Given the description of an element on the screen output the (x, y) to click on. 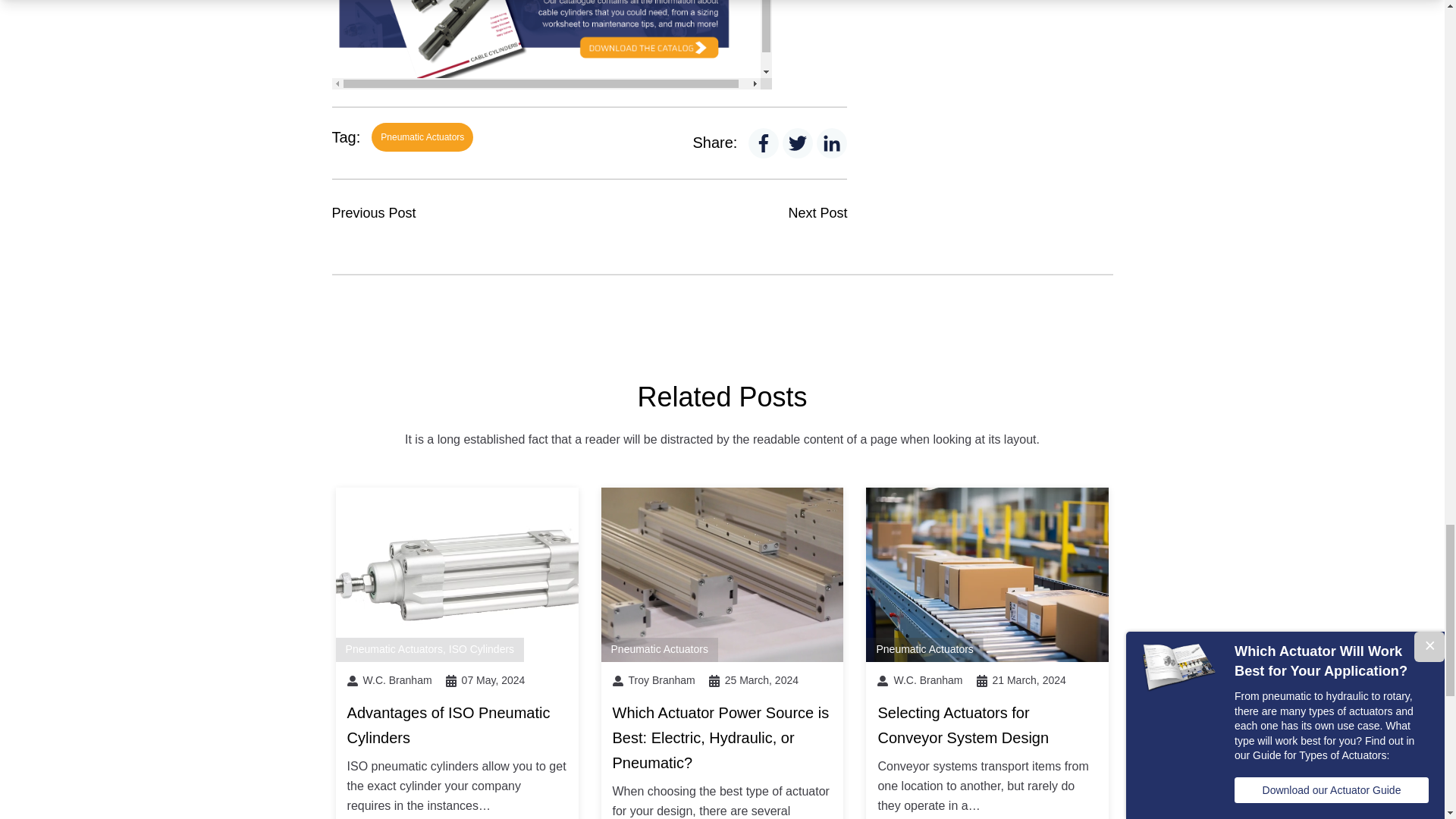
Embedded CTA (551, 44)
Follow us on Linkedin (831, 143)
Follow us on Twitter (797, 143)
Follow us on Facebook (763, 143)
